Given the description of an element on the screen output the (x, y) to click on. 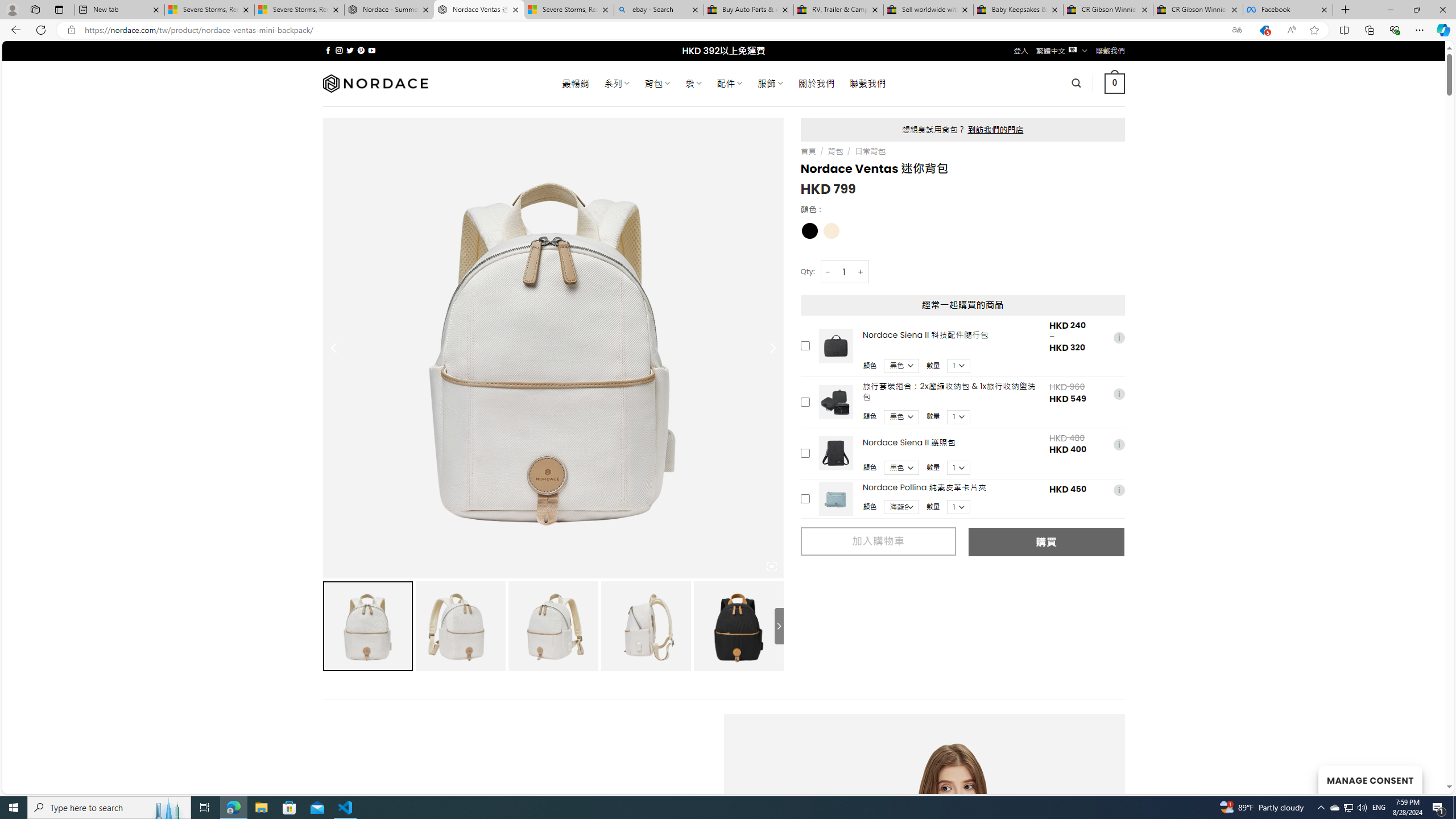
Follow on Twitter (349, 50)
ebay - Search (658, 9)
